Given the description of an element on the screen output the (x, y) to click on. 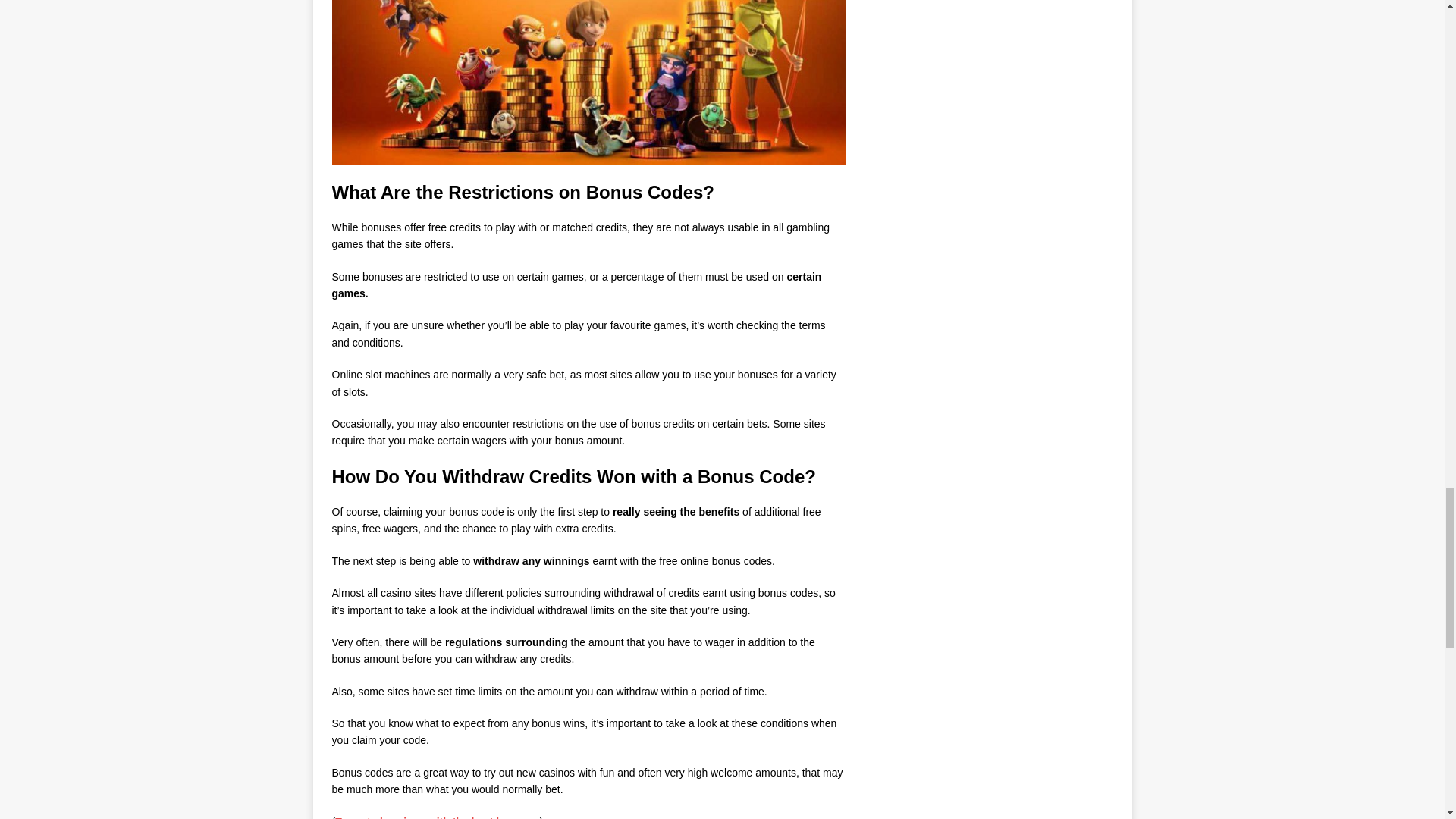
Top rated casinos with the best bonuses (437, 817)
